Given the description of an element on the screen output the (x, y) to click on. 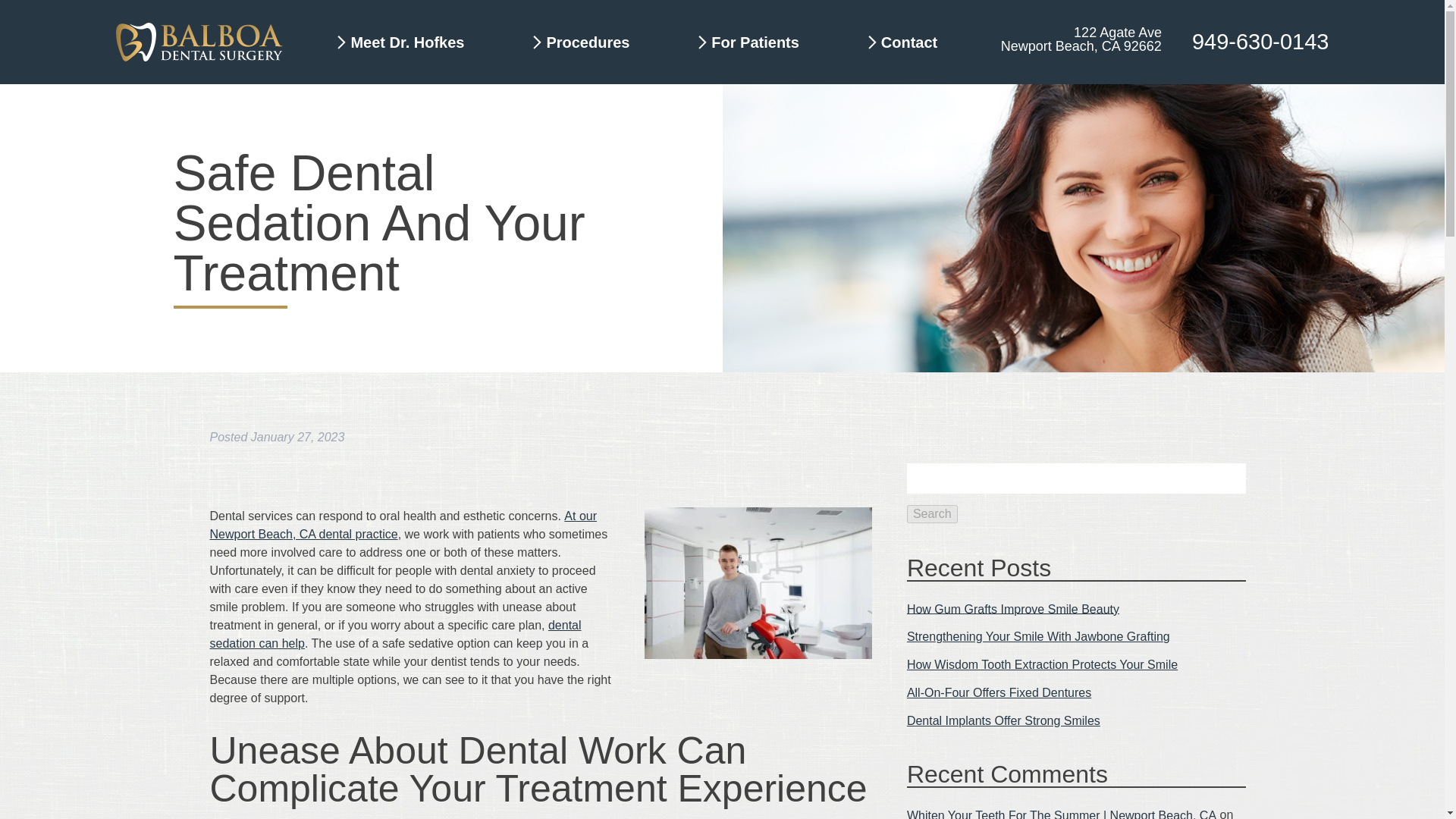
dental sedation can help (394, 634)
Procedures (587, 41)
Contact  (911, 41)
At our Newport Beach, CA dental practice (402, 524)
For Patients (755, 41)
Meet Dr. Hofkes (407, 41)
